Given the description of an element on the screen output the (x, y) to click on. 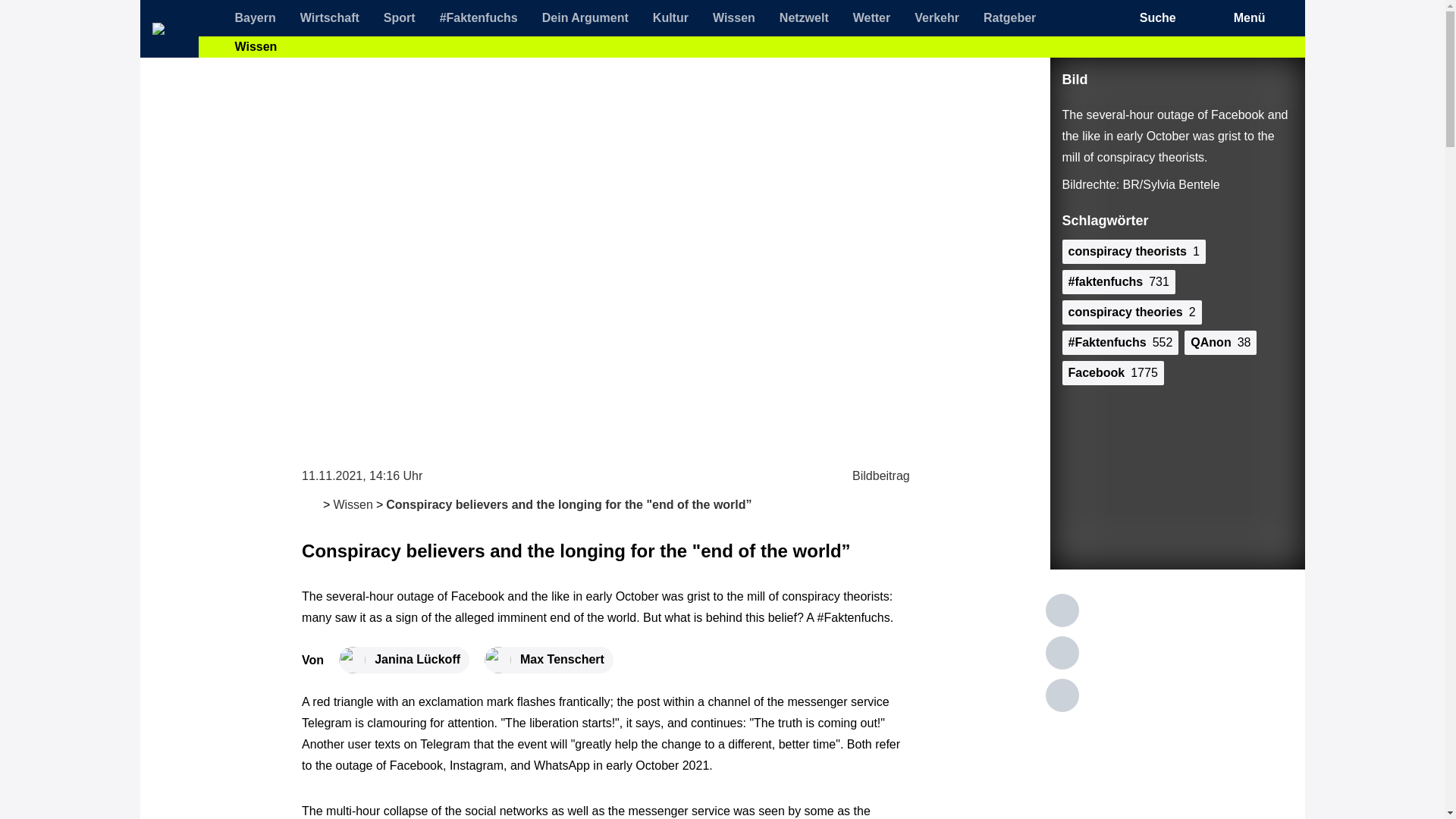
Suche (1171, 18)
conspiracy theorists1 (1133, 251)
Teilen (1061, 694)
Wissen (734, 18)
Verkehr (936, 18)
conspiracy theories2 (1131, 312)
Netzwelt (803, 18)
Facebook1775 (1112, 372)
Kultur (670, 18)
Wissen (352, 504)
